Given the description of an element on the screen output the (x, y) to click on. 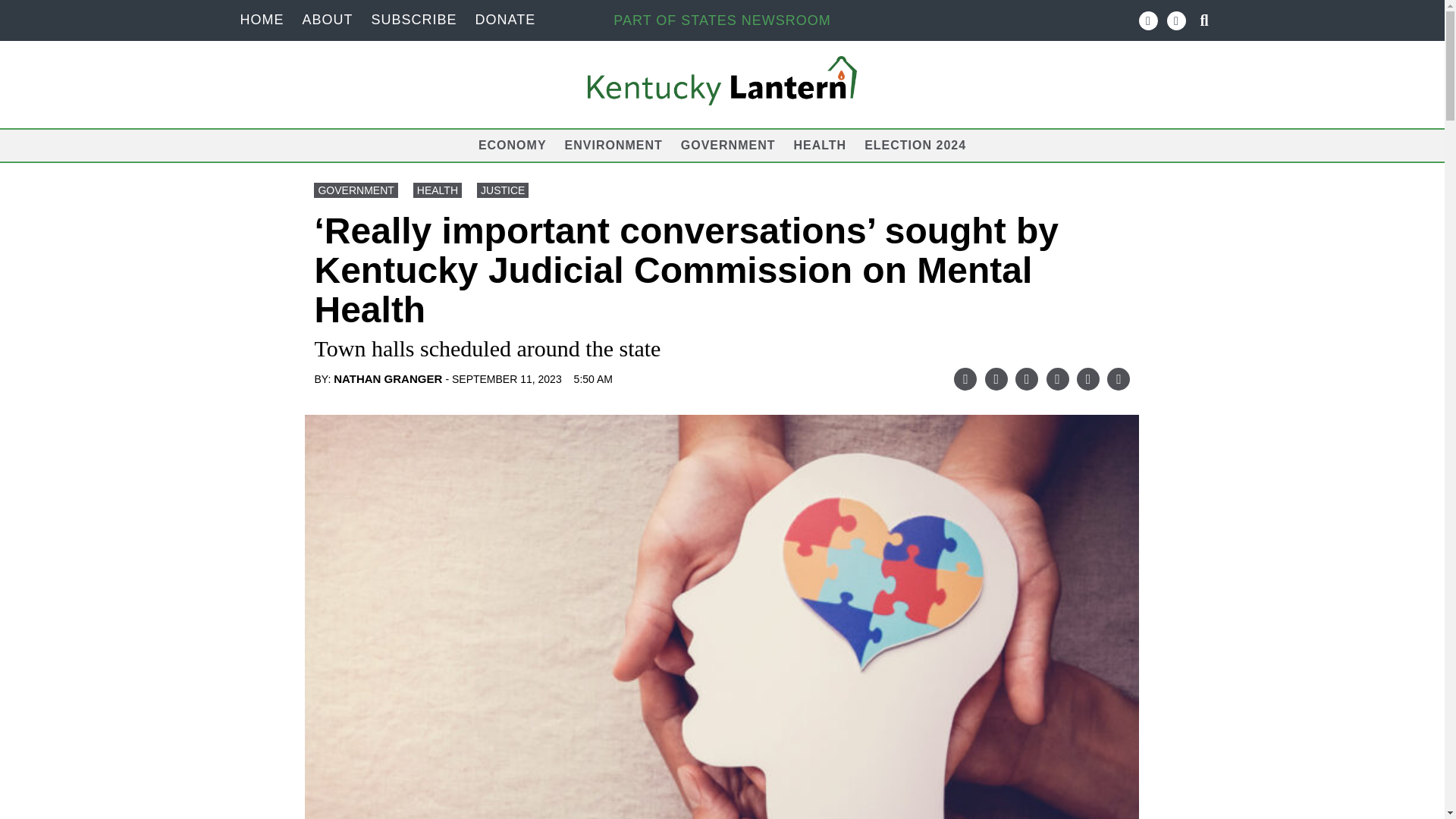
search (16, 9)
NATHAN GRANGER (387, 378)
JUSTICE (502, 190)
GOVERNMENT (728, 144)
GOVERNMENT (355, 190)
HEALTH (437, 190)
DONATE (505, 19)
PART OF STATES NEWSROOM (720, 20)
SUBSCRIBE (414, 19)
ELECTION 2024 (915, 144)
ABOUT (326, 19)
ENVIRONMENT (613, 144)
HEALTH (819, 144)
Posts by Nathan Granger (387, 378)
ECONOMY (513, 144)
